Given the description of an element on the screen output the (x, y) to click on. 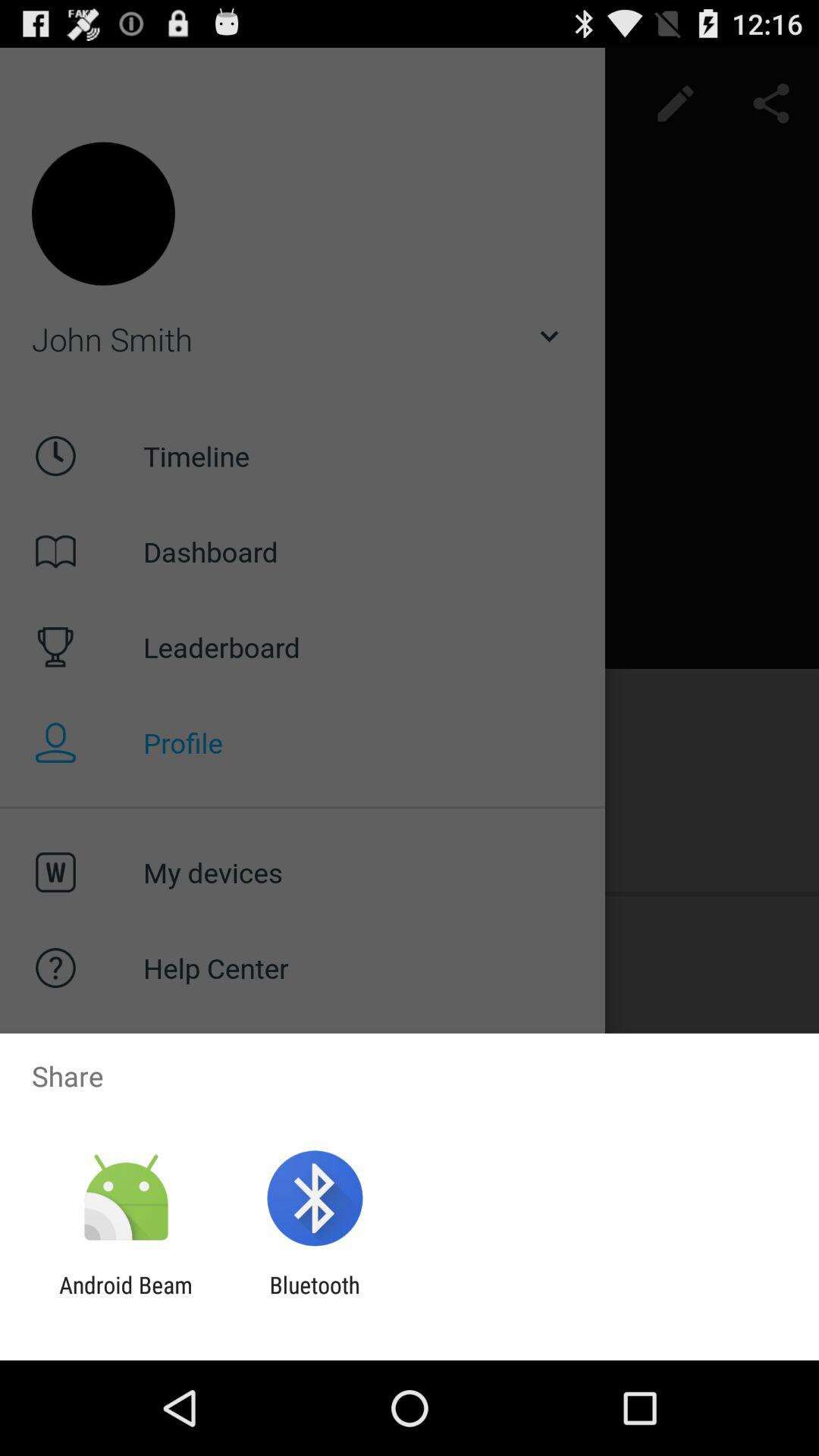
select app next to the android beam (314, 1298)
